Given the description of an element on the screen output the (x, y) to click on. 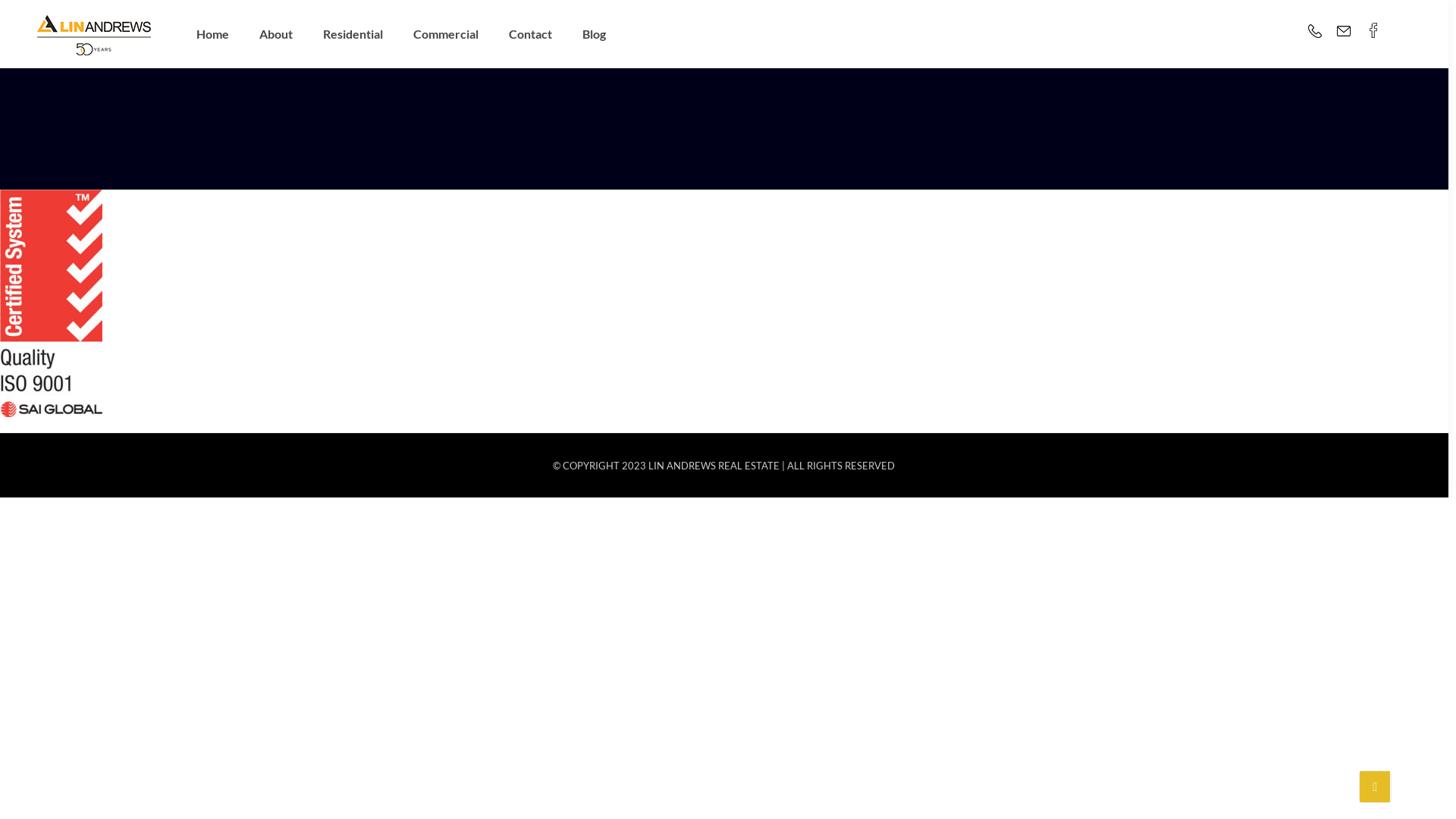
Blog Element type: text (594, 34)
Home Element type: text (212, 34)
About Element type: text (275, 34)
Residential Element type: text (352, 34)
Lin Andrews Real Estate Element type: hover (93, 34)
Contact Element type: text (530, 34)
Commercial Element type: text (445, 34)
